Given the description of an element on the screen output the (x, y) to click on. 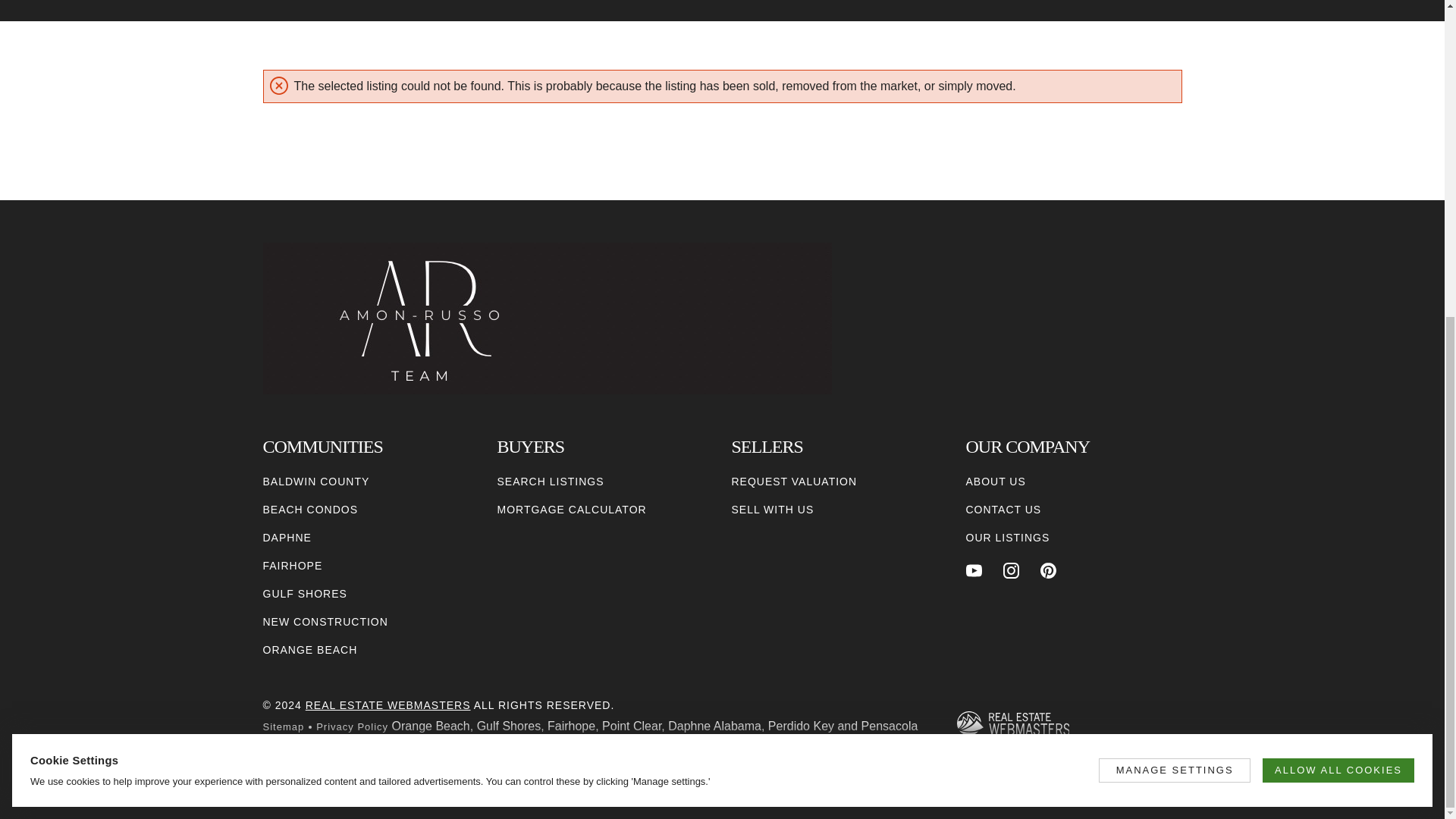
NEW CONSTRUCTION (324, 621)
FAIRHOPE (291, 565)
DAPHNE (286, 537)
YOUTUBE (973, 570)
PINTEREST ICON (1049, 570)
BEACH CONDOS (310, 509)
BALDWIN COUNTY (315, 481)
GULF SHORES (304, 593)
